Given the description of an element on the screen output the (x, y) to click on. 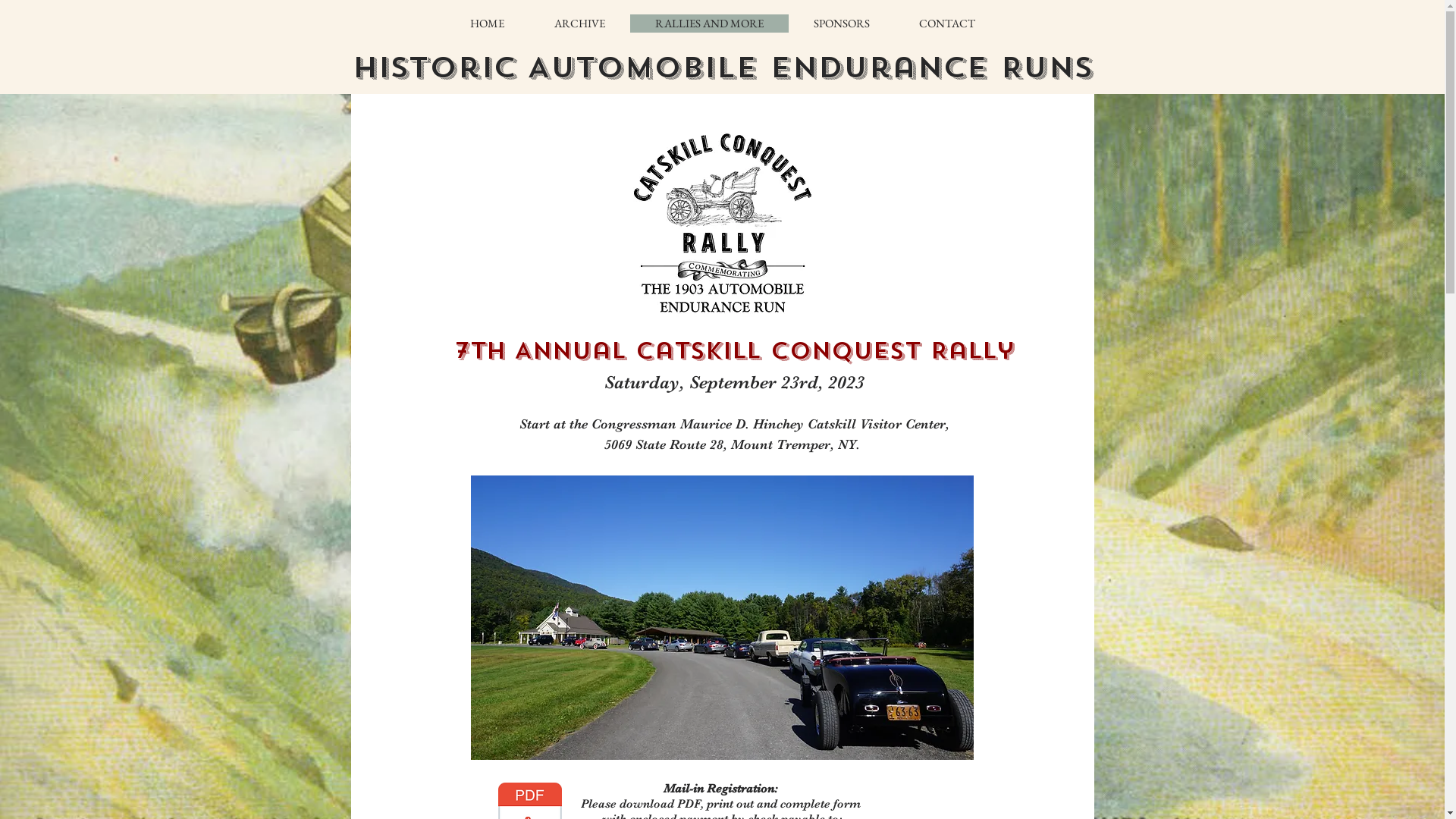
Historic Automobile  Element type: text (560, 67)
SPONSORS Element type: text (841, 23)
CONTACT Element type: text (945, 23)
HOME Element type: text (487, 23)
RALLIES AND MORE Element type: text (708, 23)
ARCHIVE Element type: text (579, 23)
